Given the description of an element on the screen output the (x, y) to click on. 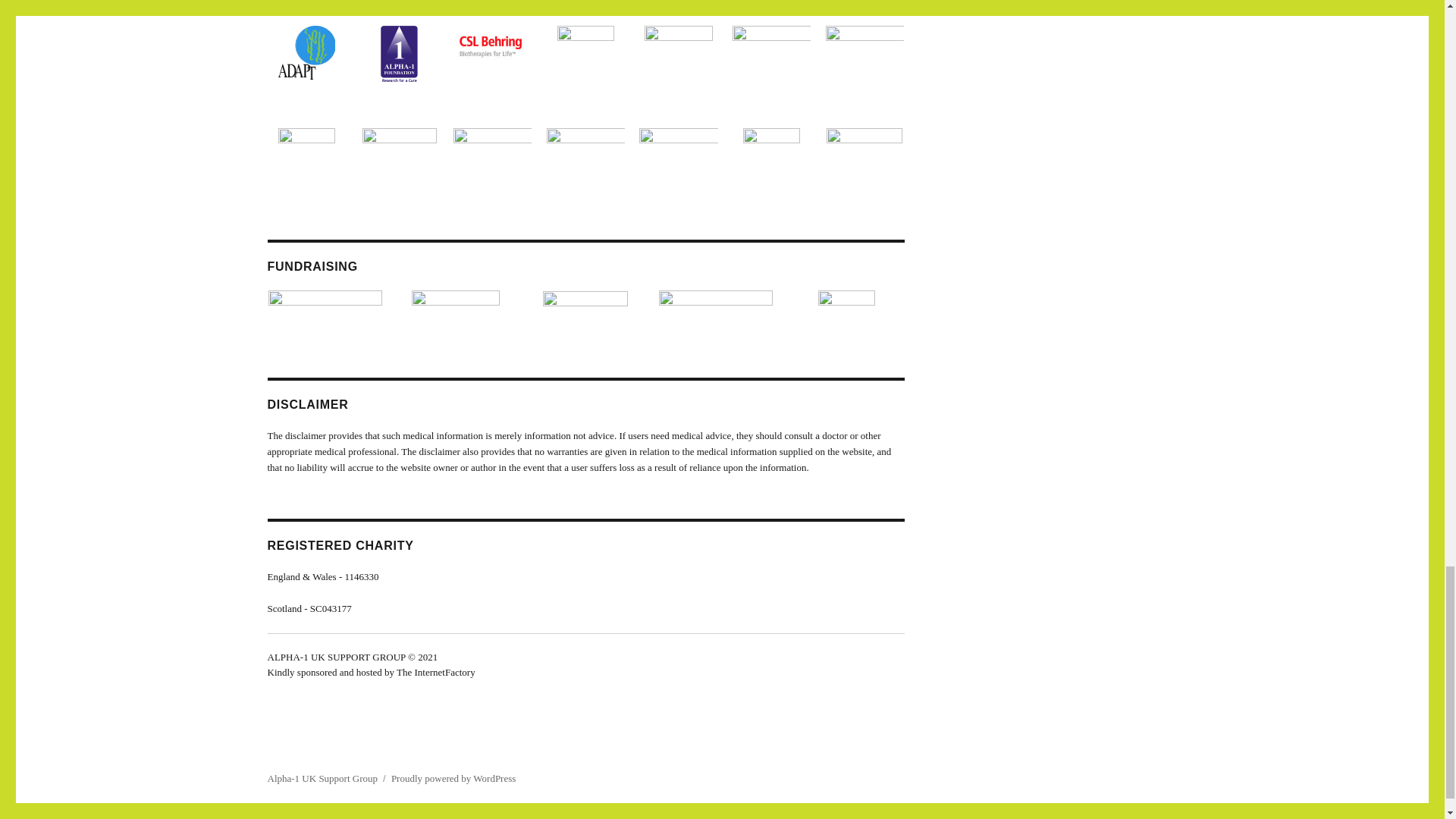
easyfundraising.org.uk (324, 302)
JustGiving (585, 297)
ebay for Charity (846, 304)
easysearch.org.uk (455, 301)
Donate with JustGiving (716, 303)
